Given the description of an element on the screen output the (x, y) to click on. 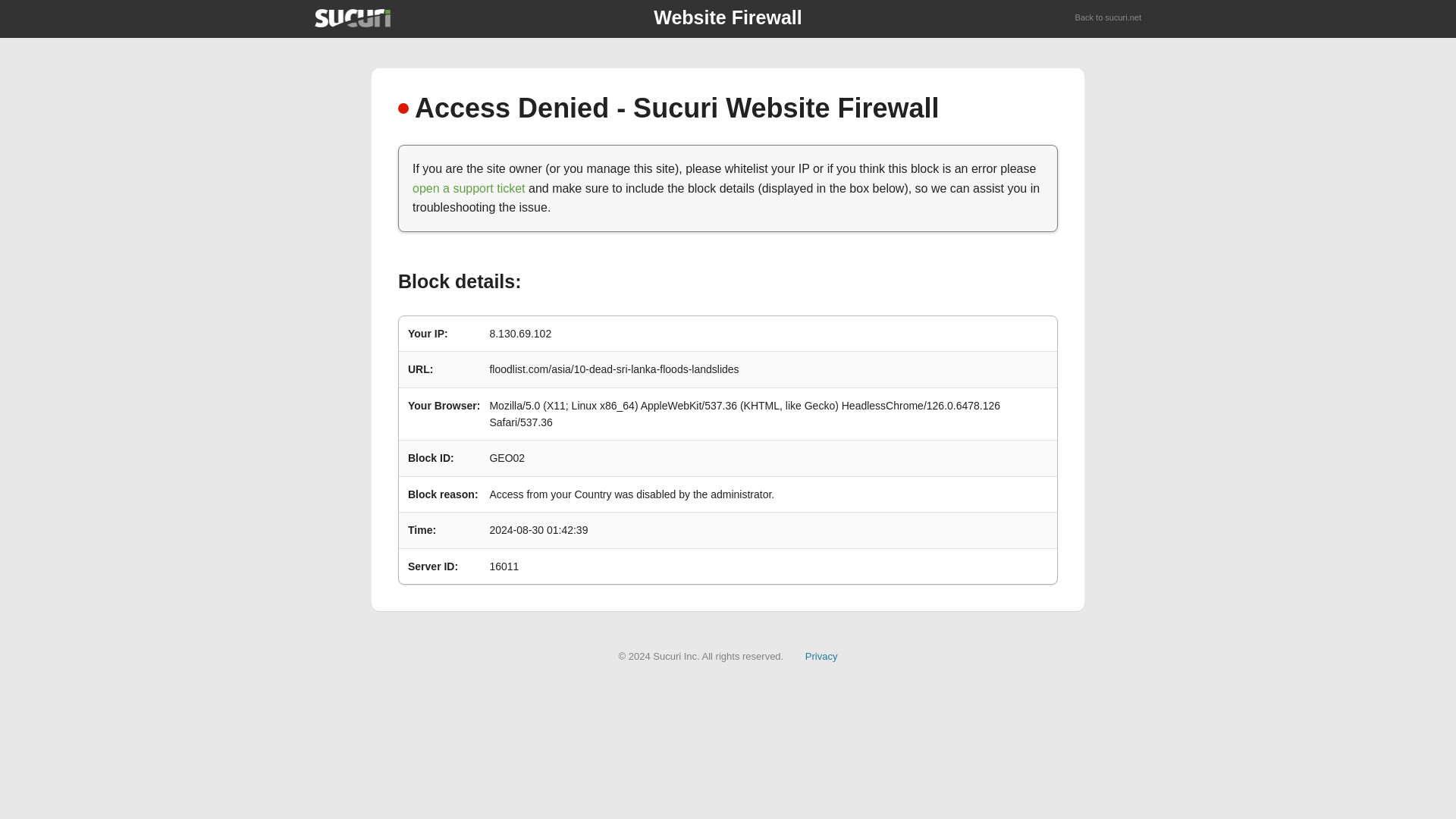
Privacy (821, 655)
Back to sucuri.net (1108, 18)
open a support ticket (468, 187)
